Given the description of an element on the screen output the (x, y) to click on. 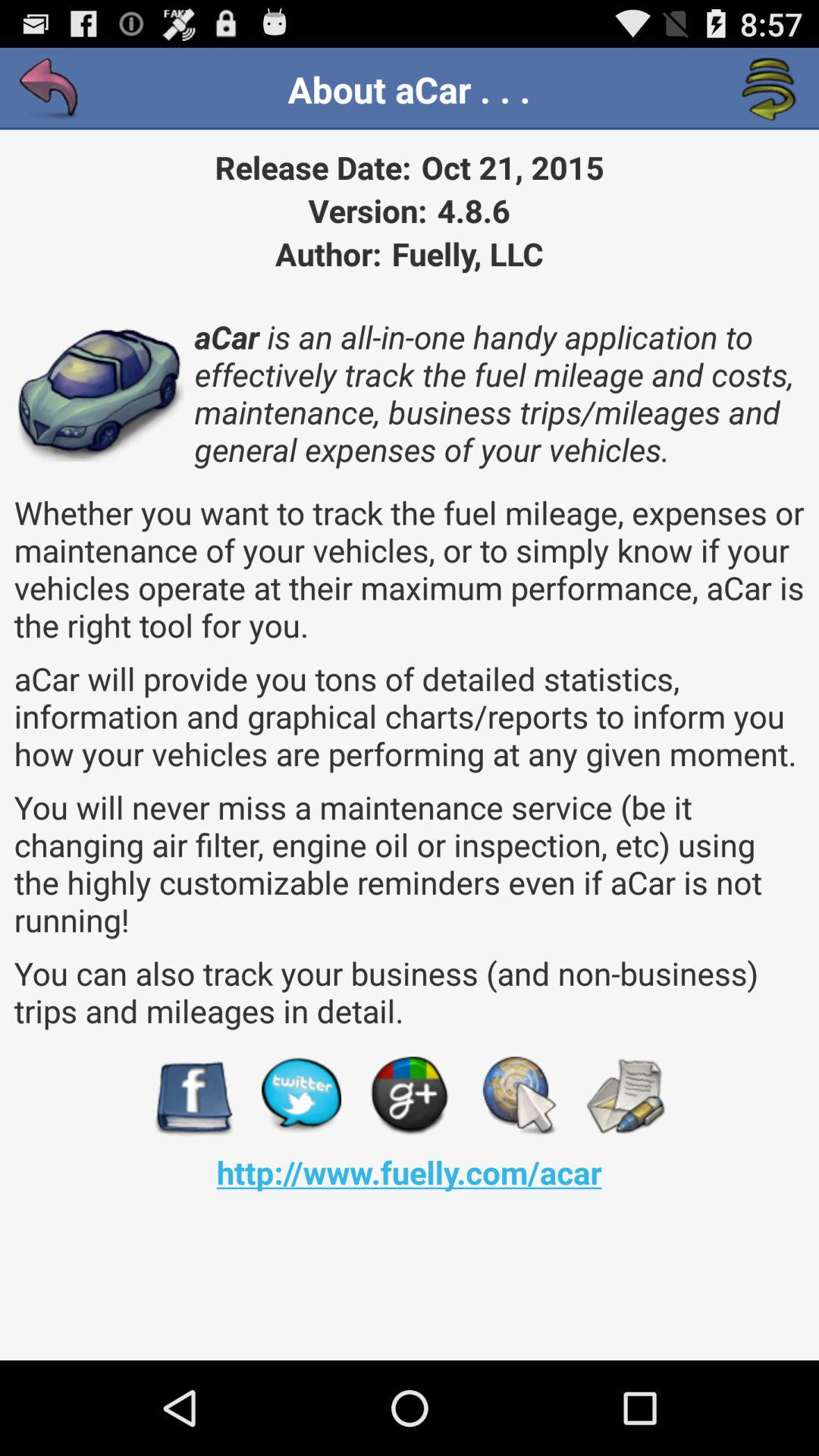
select the item above the http www fuelly icon (301, 1096)
